Given the description of an element on the screen output the (x, y) to click on. 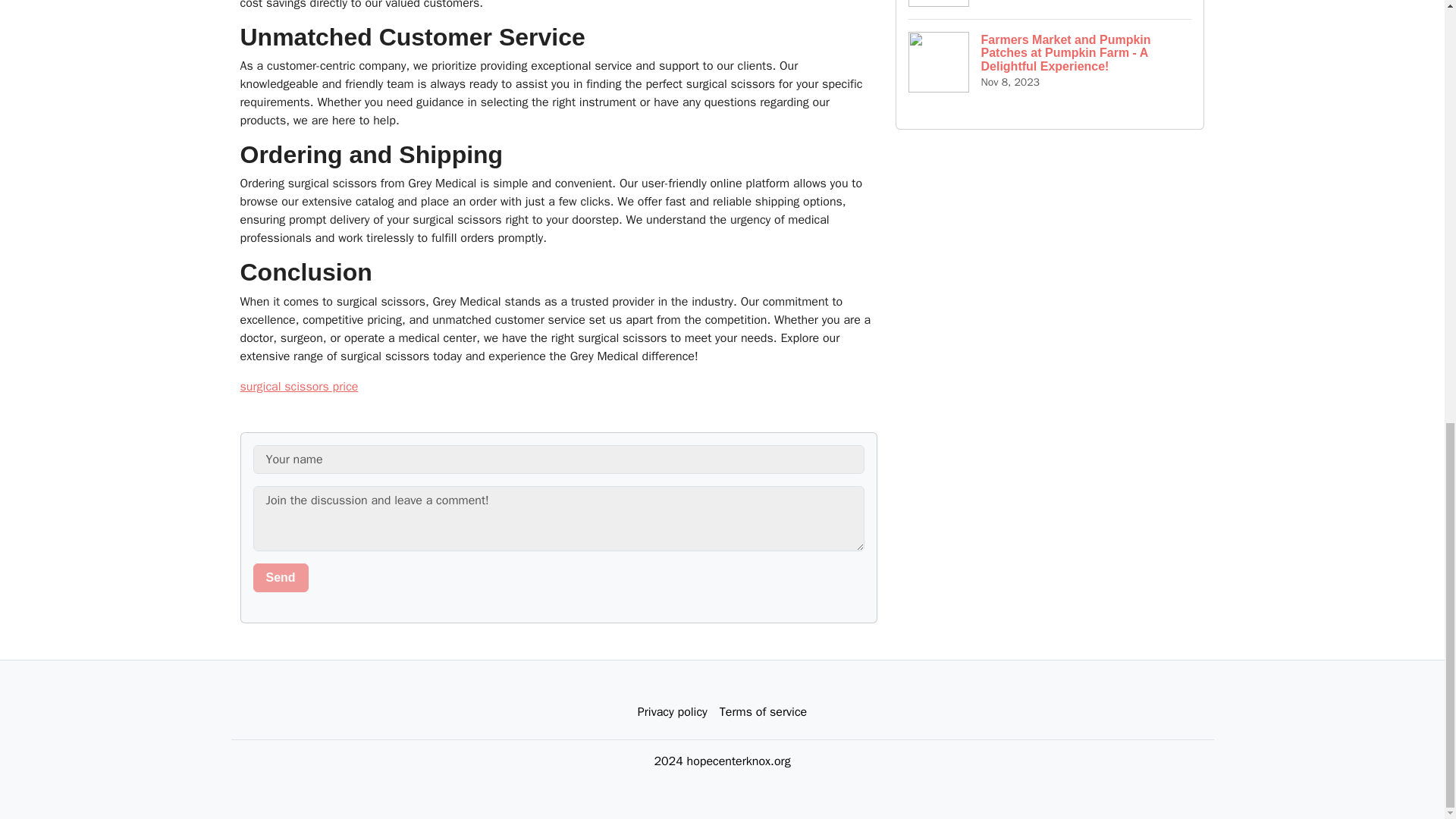
Terms of service (762, 711)
surgical scissors price (299, 386)
Send (280, 577)
Privacy policy (672, 711)
Send (280, 577)
